Given the description of an element on the screen output the (x, y) to click on. 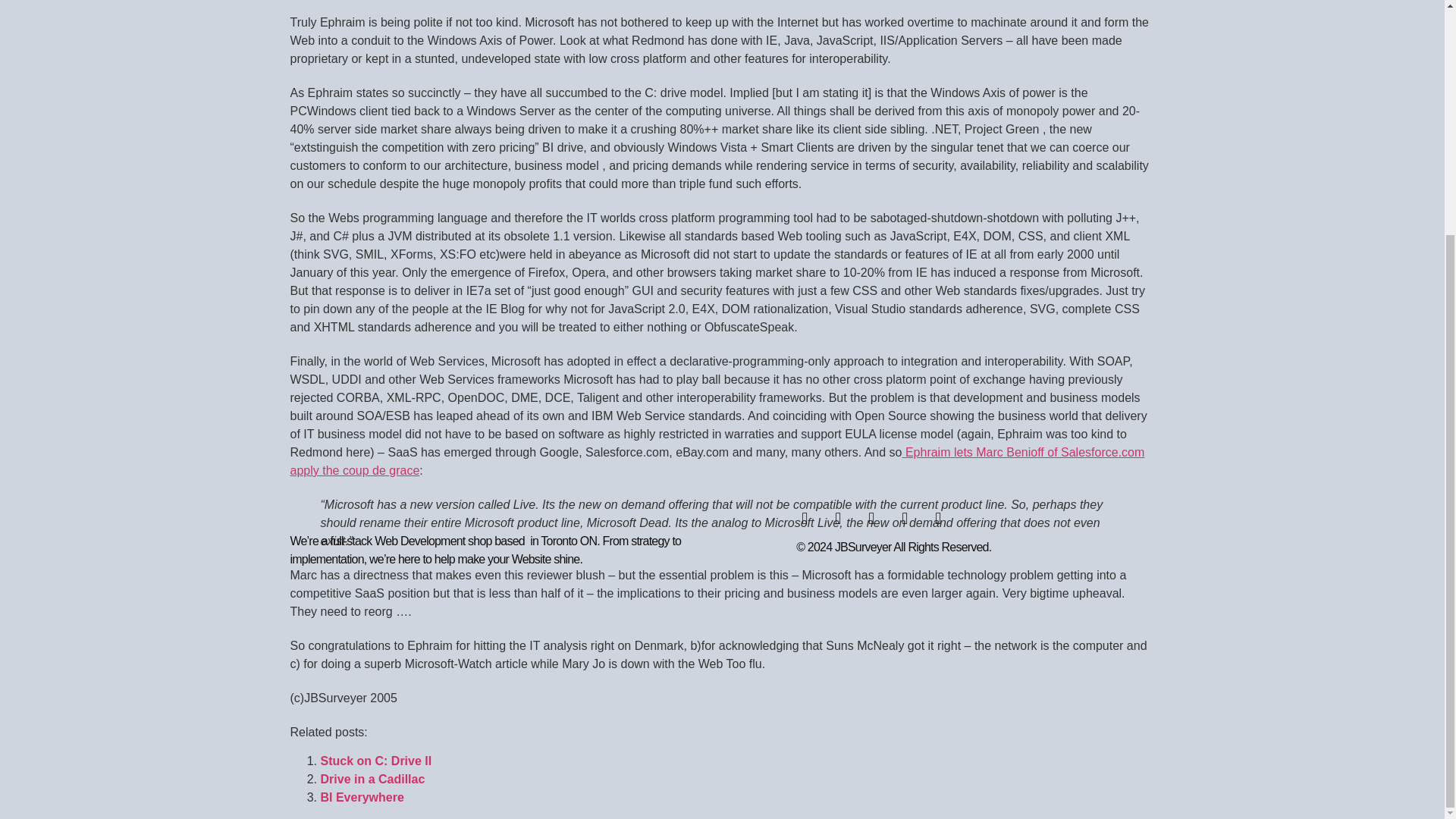
Stuck on C: Drive II (375, 760)
Stuck on C: Drive II (375, 760)
BI Everywhere (361, 797)
BI Everywhere (361, 797)
Drive in a Cadillac (372, 779)
Drive in a Cadillac (372, 779)
